Given the description of an element on the screen output the (x, y) to click on. 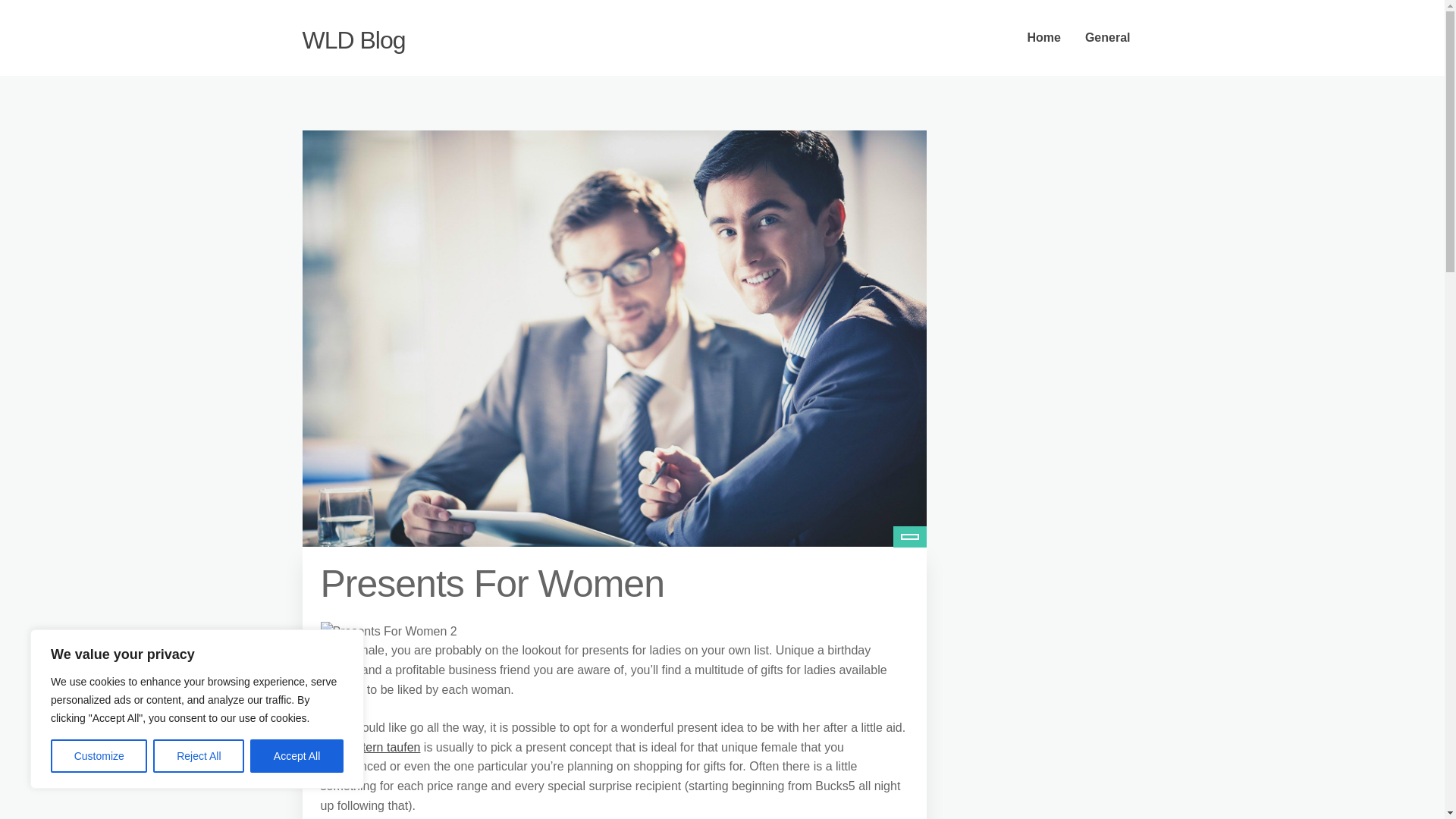
Home (1042, 37)
General (1107, 37)
Customize (98, 756)
Stern taufen (386, 747)
Accept All (296, 756)
WLD Blog (352, 39)
Reject All (198, 756)
